Given the description of an element on the screen output the (x, y) to click on. 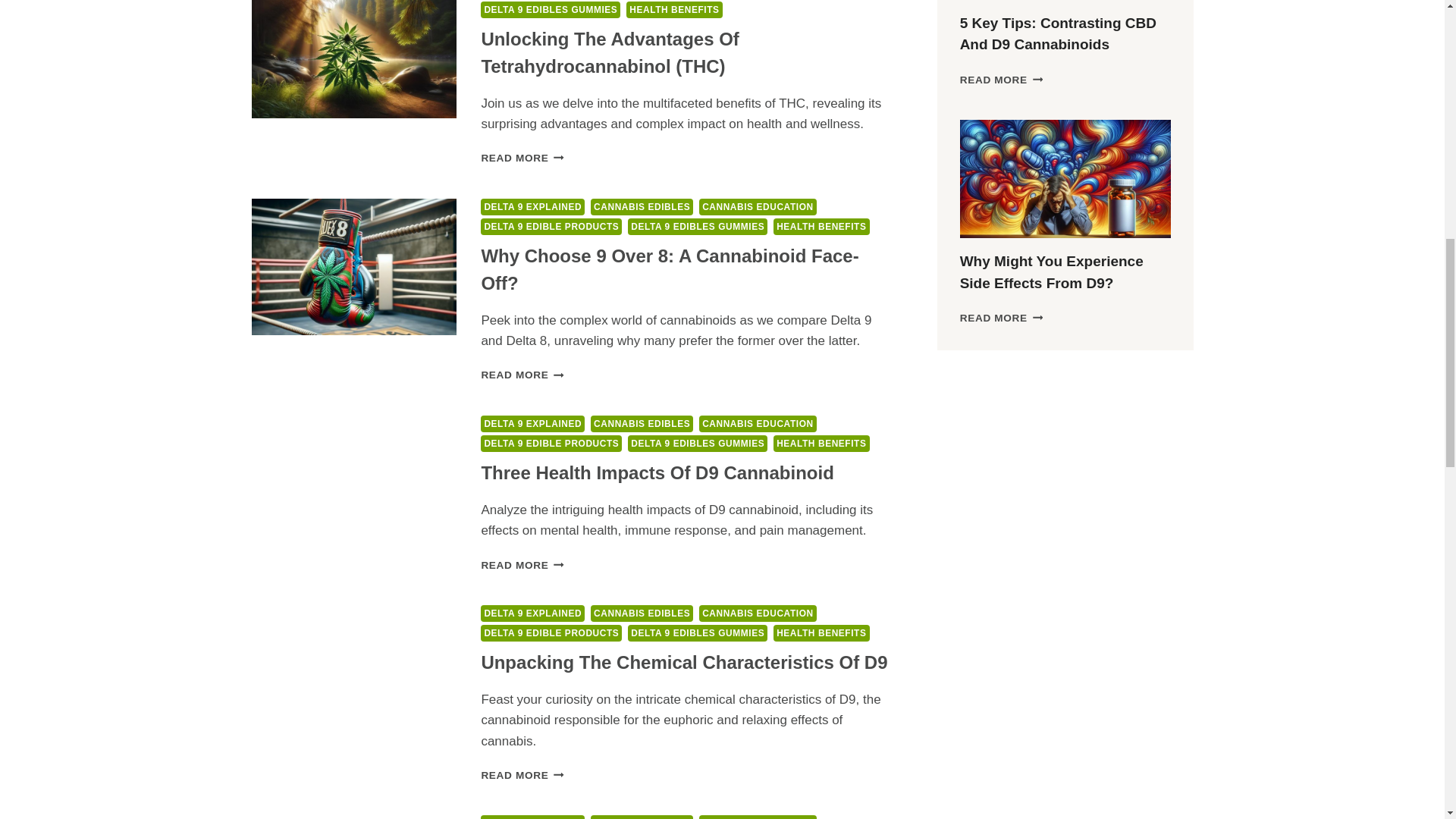
DELTA 9 EXPLAINED (532, 207)
CANNABIS EDUCATION (757, 207)
HEALTH BENEFITS (821, 226)
CANNABIS EDIBLES (642, 207)
DELTA 9 EDIBLES GUMMIES (697, 226)
DELTA 9 EDIBLES GUMMIES (550, 9)
DELTA 9 EDIBLE PRODUCTS (550, 226)
HEALTH BENEFITS (674, 9)
